Given the description of an element on the screen output the (x, y) to click on. 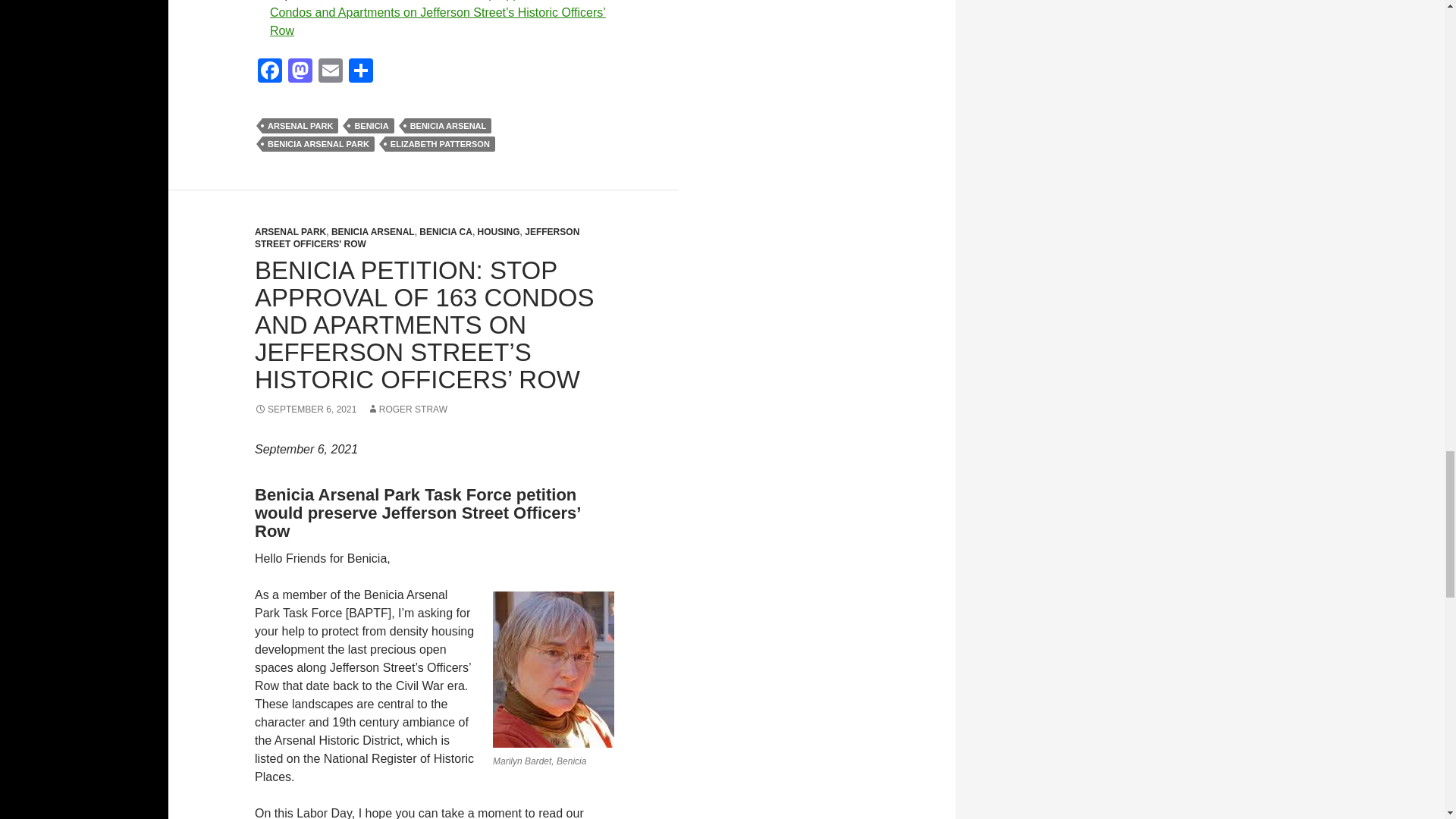
Mastodon (300, 72)
Email (330, 72)
Facebook (269, 72)
